Given the description of an element on the screen output the (x, y) to click on. 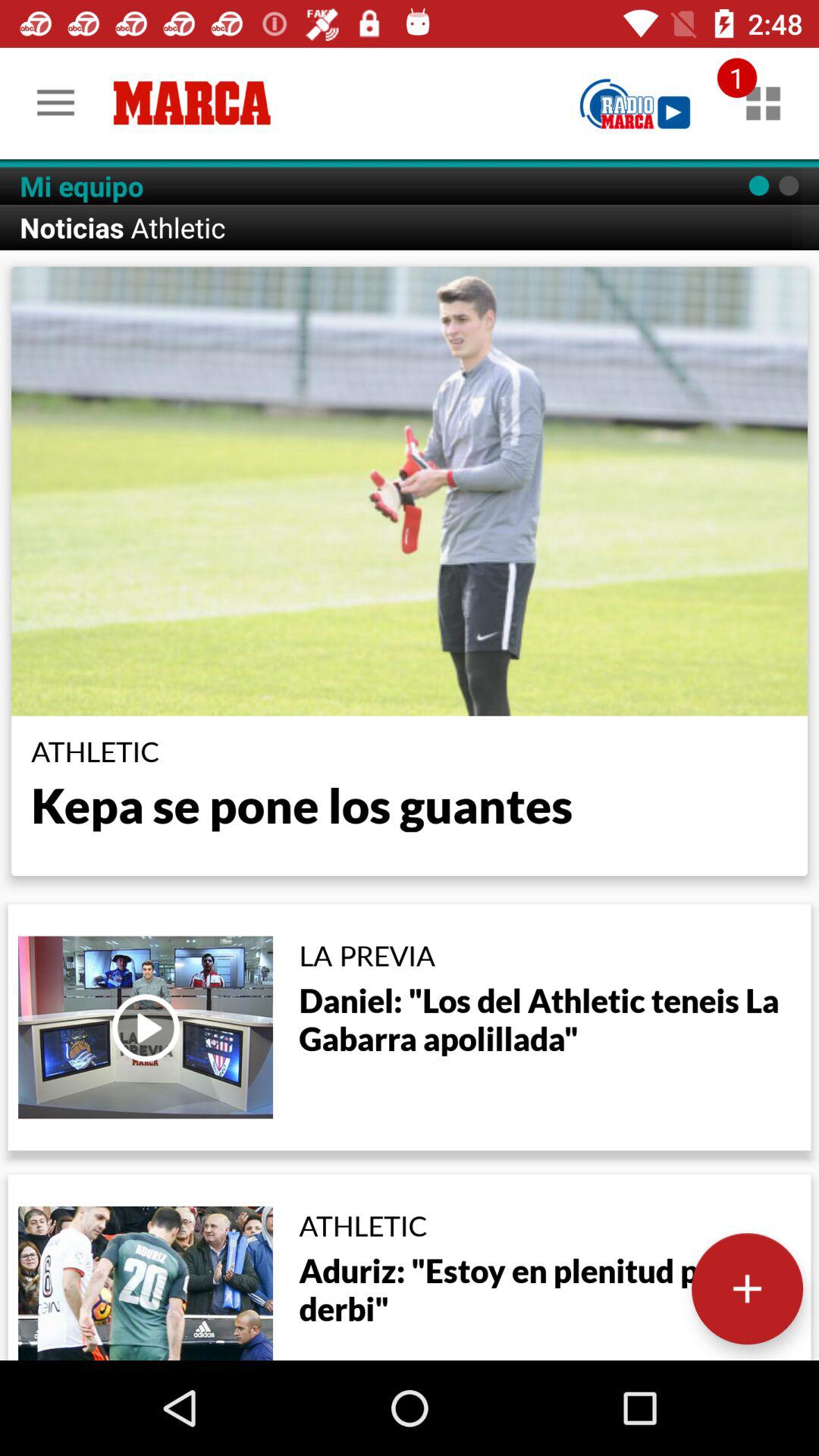
add more (747, 1288)
